Given the description of an element on the screen output the (x, y) to click on. 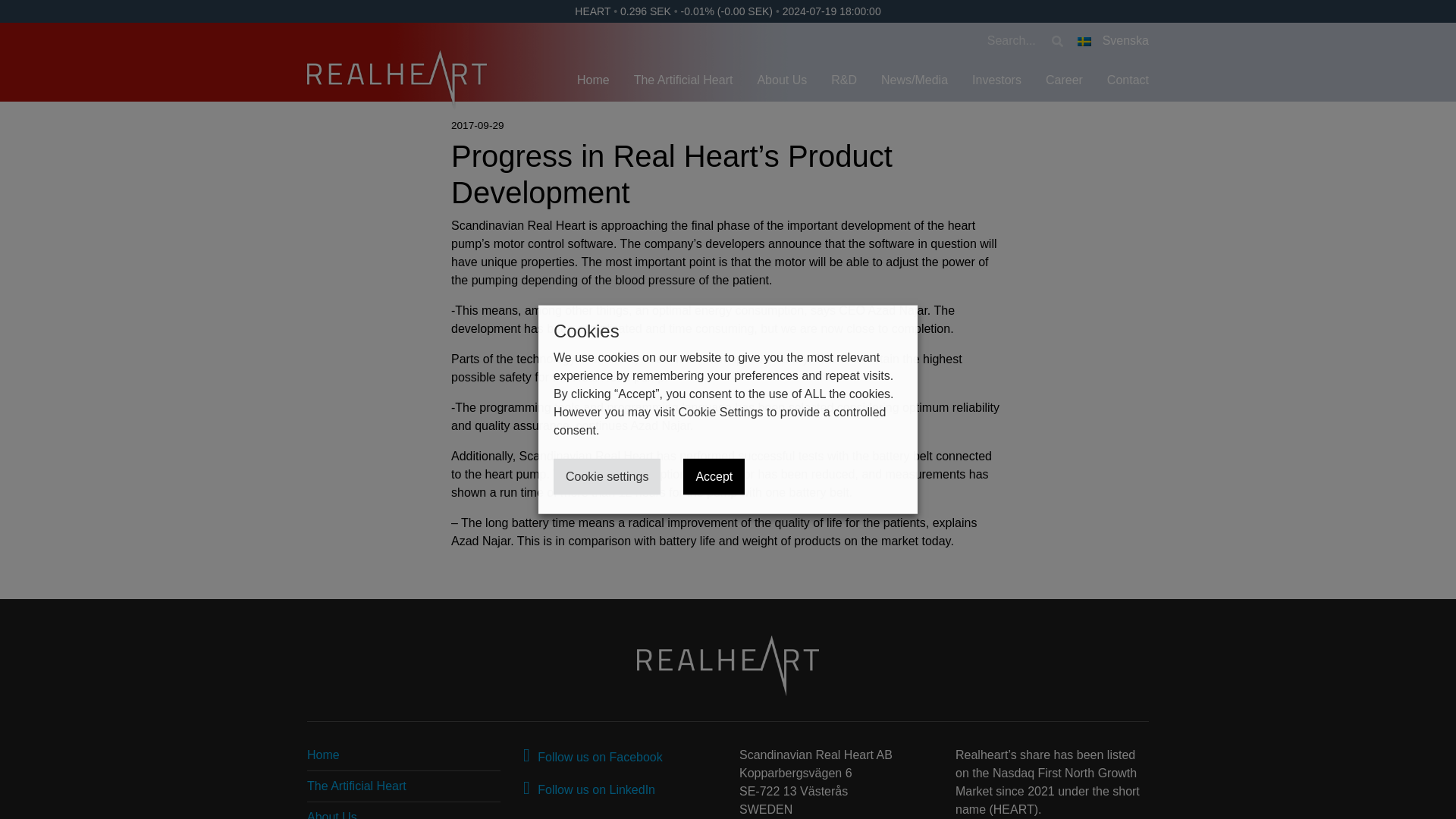
Follow us on LinkedIn (588, 789)
Career (1063, 80)
The Artificial Heart (356, 785)
About Us (781, 80)
Home (592, 80)
The Artificial Heart (683, 80)
Accept (713, 475)
Home (323, 754)
About Us (331, 814)
Follow us on Facebook (592, 757)
Cookie settings (607, 475)
Contact (1121, 80)
Investors (996, 80)
Svenska (1112, 40)
